Given the description of an element on the screen output the (x, y) to click on. 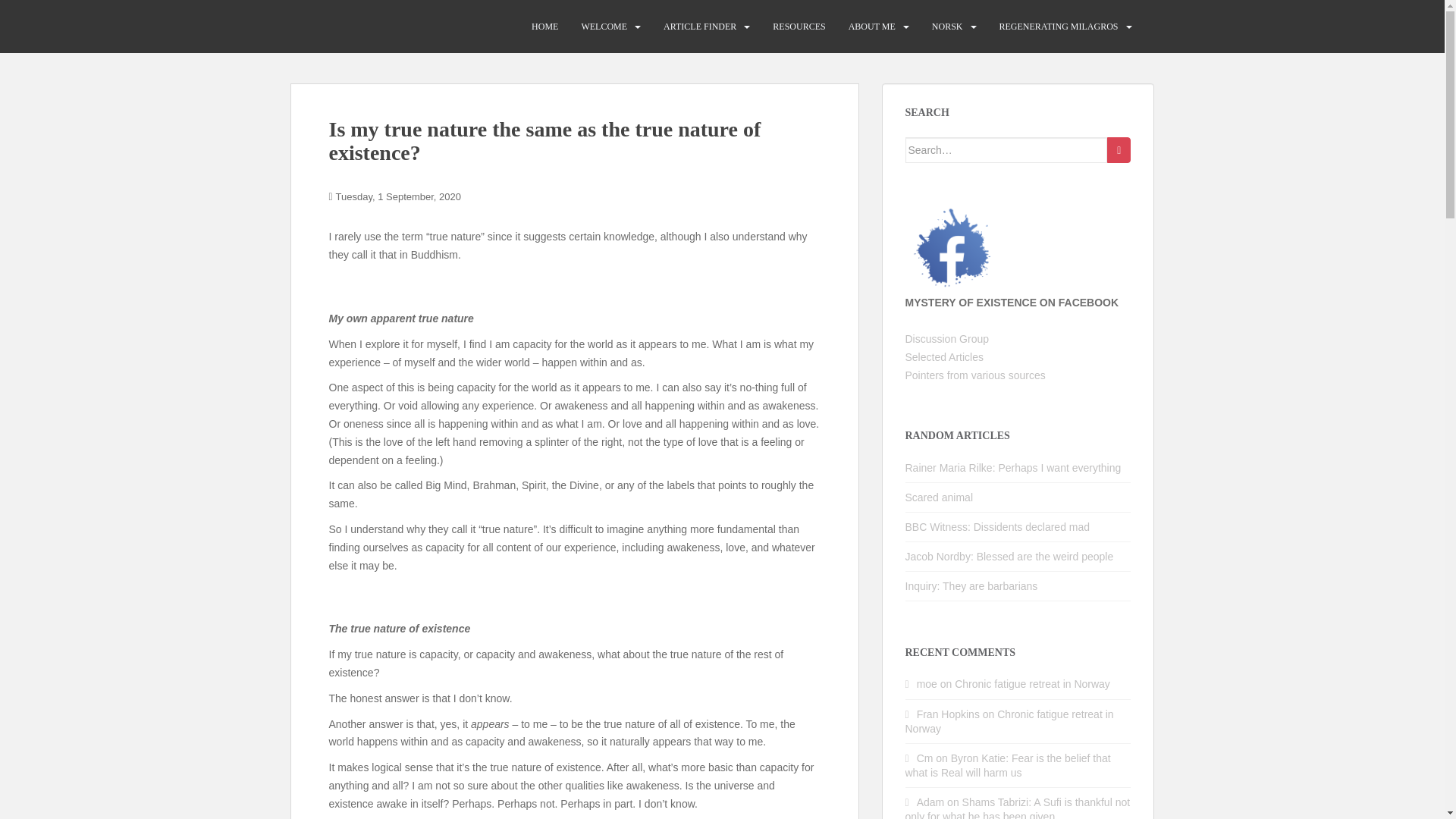
WELCOME (603, 26)
Search for: (1006, 149)
RESOURCES (799, 26)
ARTICLE FINDER (699, 26)
HOME (544, 26)
Mystery of Existence (368, 26)
Tuesday, 1 September, 2020 (398, 196)
Mystery of Existence (368, 26)
NORSK (946, 26)
ABOUT ME (871, 26)
REGENERATING MILAGROS (1058, 26)
